Given the description of an element on the screen output the (x, y) to click on. 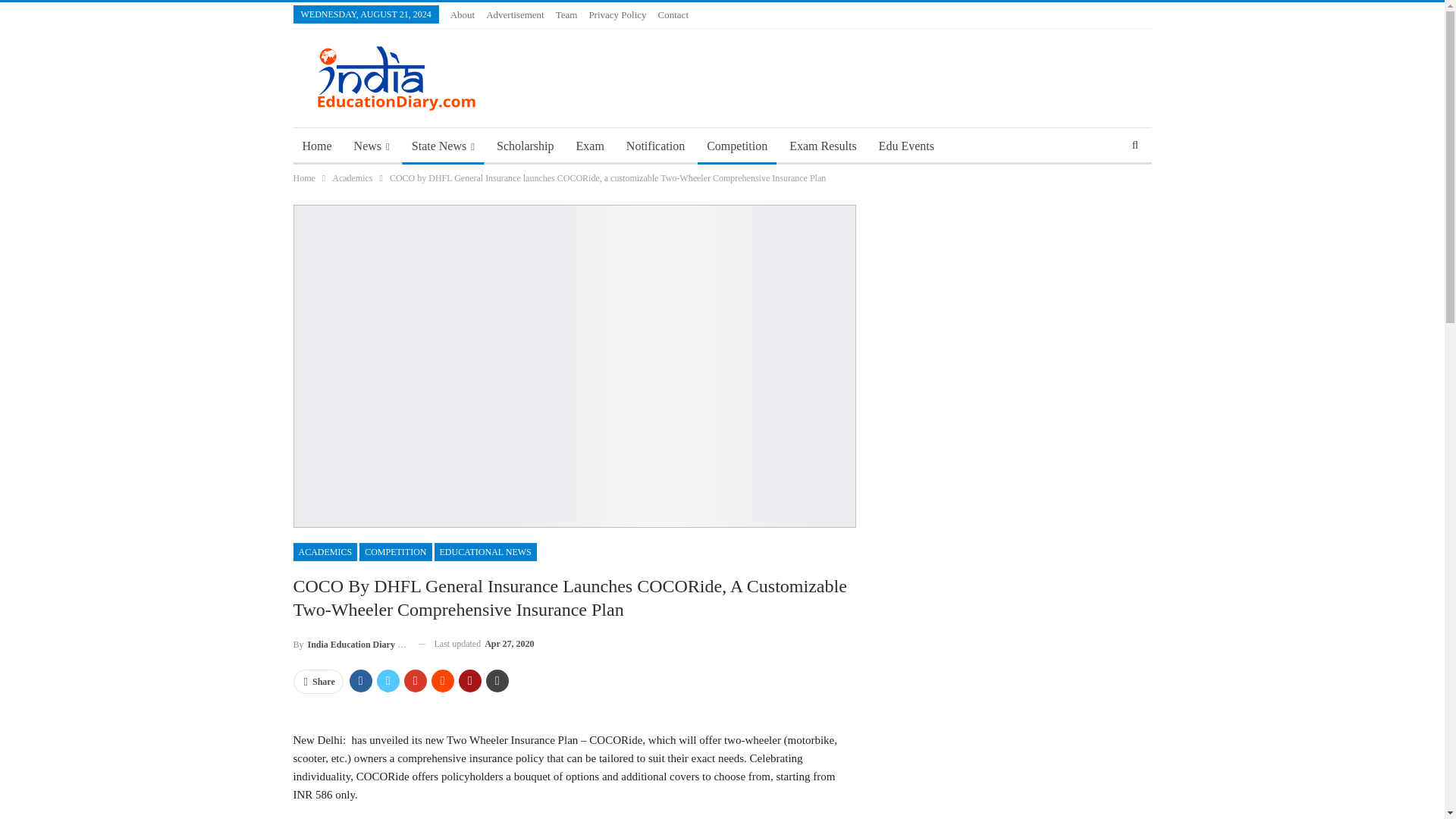
About (462, 14)
Home (316, 145)
Browse Author Articles (349, 643)
Privacy Policy (617, 14)
Advertisement (515, 14)
News (371, 145)
Team (567, 14)
State News (443, 145)
Contact (673, 14)
